Given the description of an element on the screen output the (x, y) to click on. 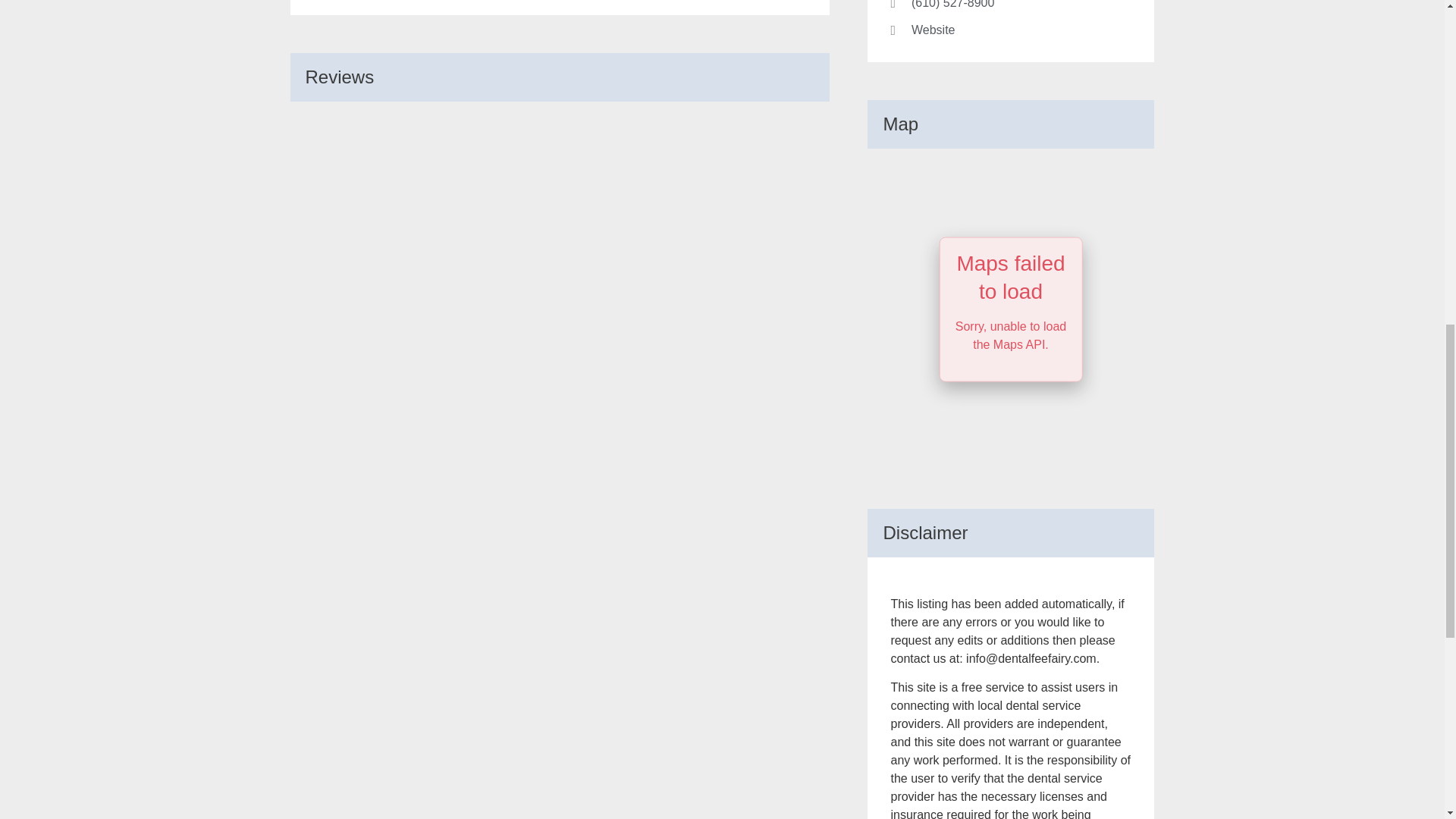
Website (1010, 30)
